Given the description of an element on the screen output the (x, y) to click on. 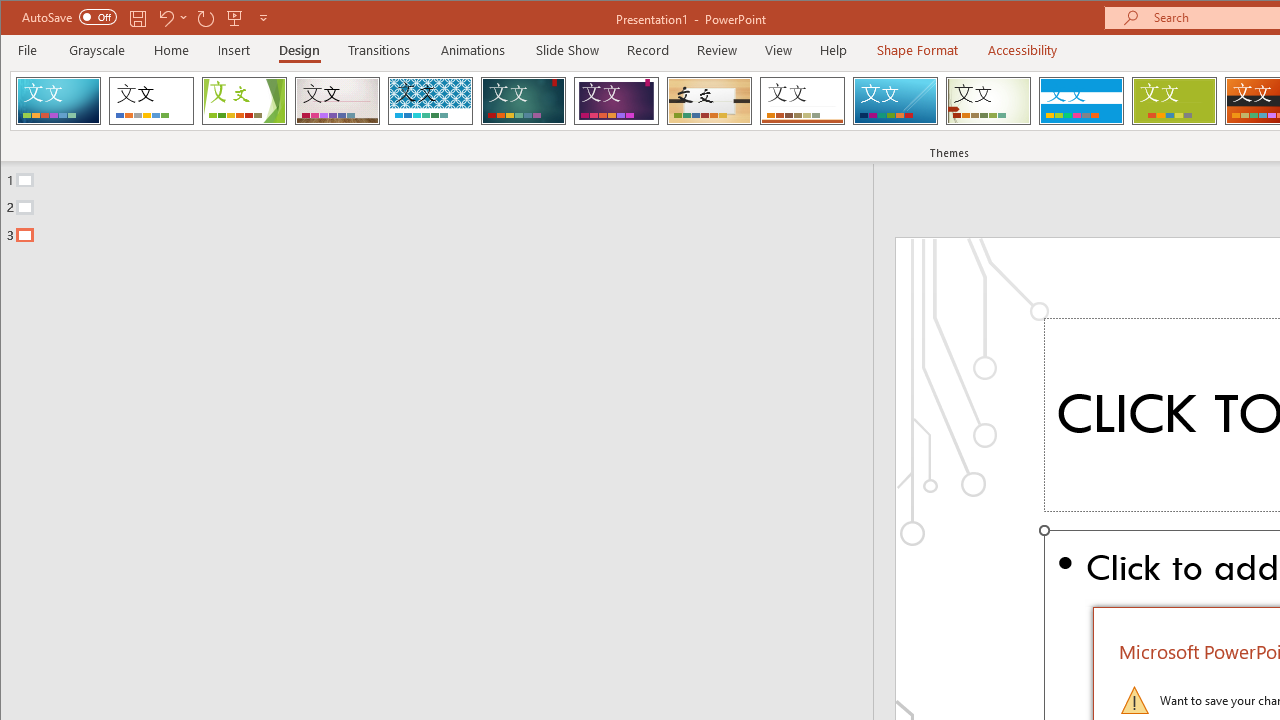
Dividend (57, 100)
Retrospect (802, 100)
Banded (1081, 100)
